Given the description of an element on the screen output the (x, y) to click on. 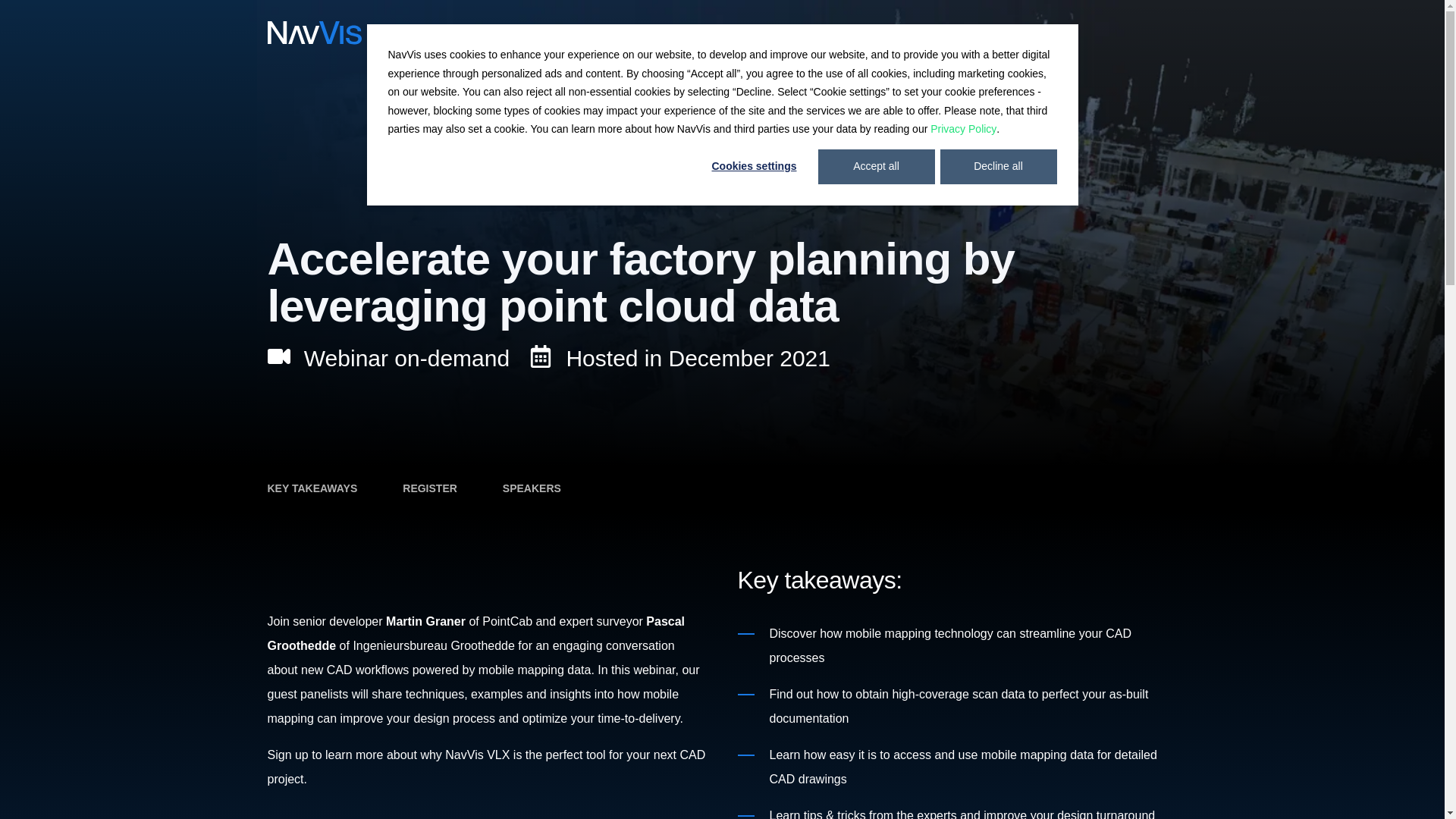
REGISTER (430, 488)
KEY TAKEAWAYSREGISTERSPEAKERS (721, 487)
Privacy Policy (962, 128)
SPEAKERS (531, 488)
KEY TAKEAWAYS (311, 488)
KEY TAKEAWAYSREGISTERSPEAKERS (721, 487)
